Given the description of an element on the screen output the (x, y) to click on. 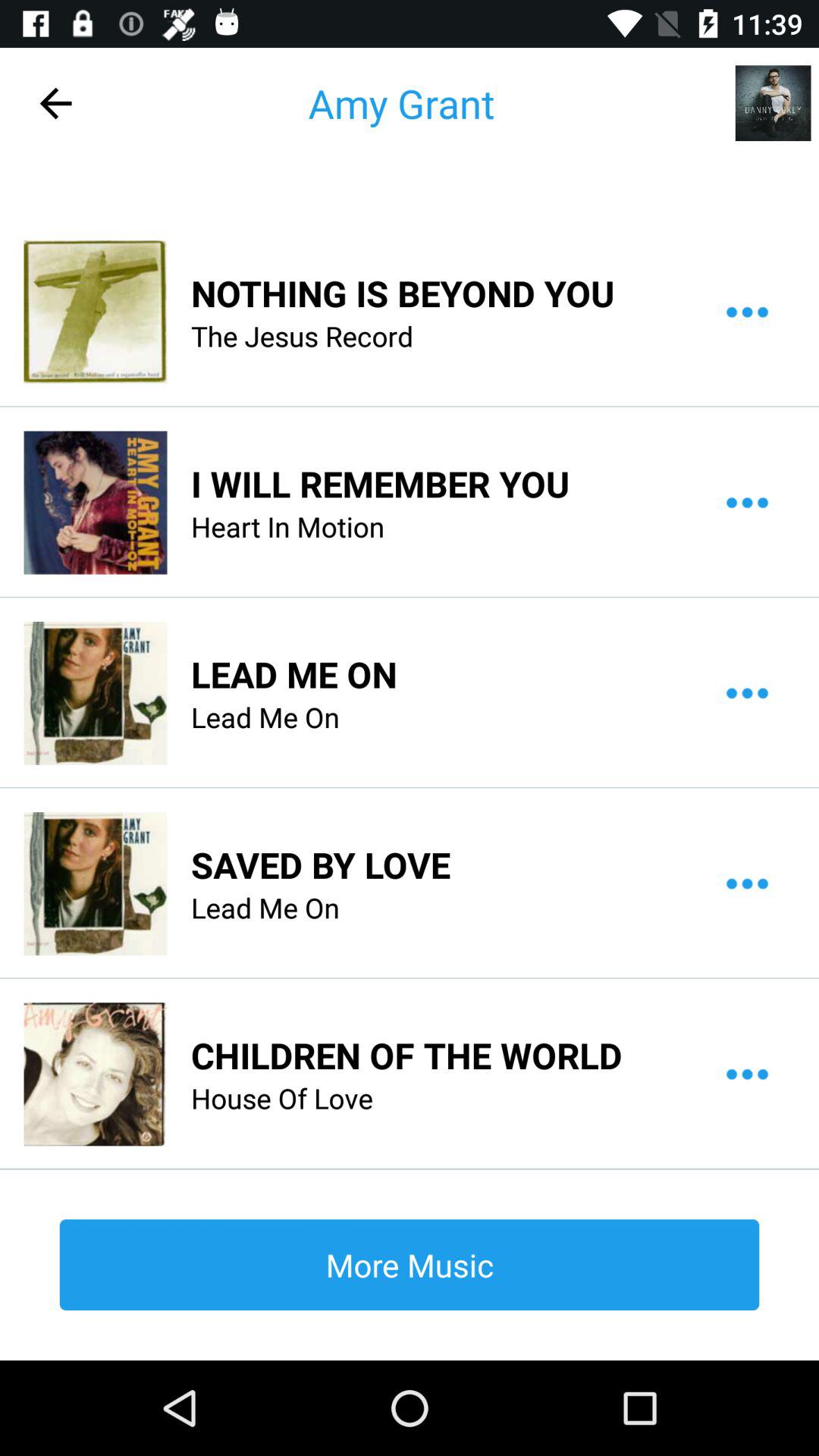
press item above the heart in motion item (380, 483)
